Given the description of an element on the screen output the (x, y) to click on. 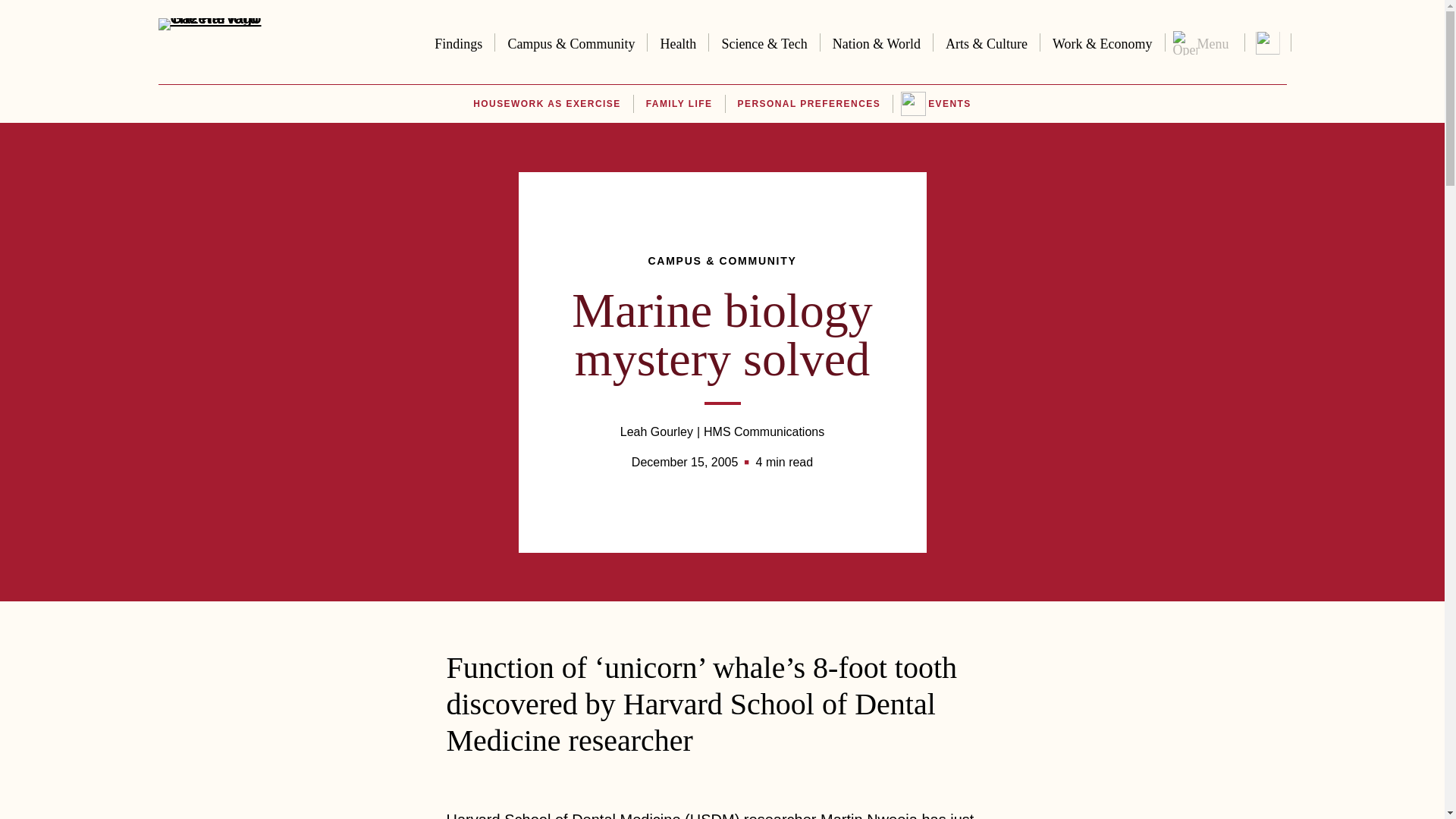
HOUSEWORK AS EXERCISE (546, 103)
Search (1266, 42)
Health (677, 41)
Menu (1204, 42)
PERSONAL PREFERENCES (809, 103)
Findings (457, 41)
FAMILY LIFE (679, 103)
